Given the description of an element on the screen output the (x, y) to click on. 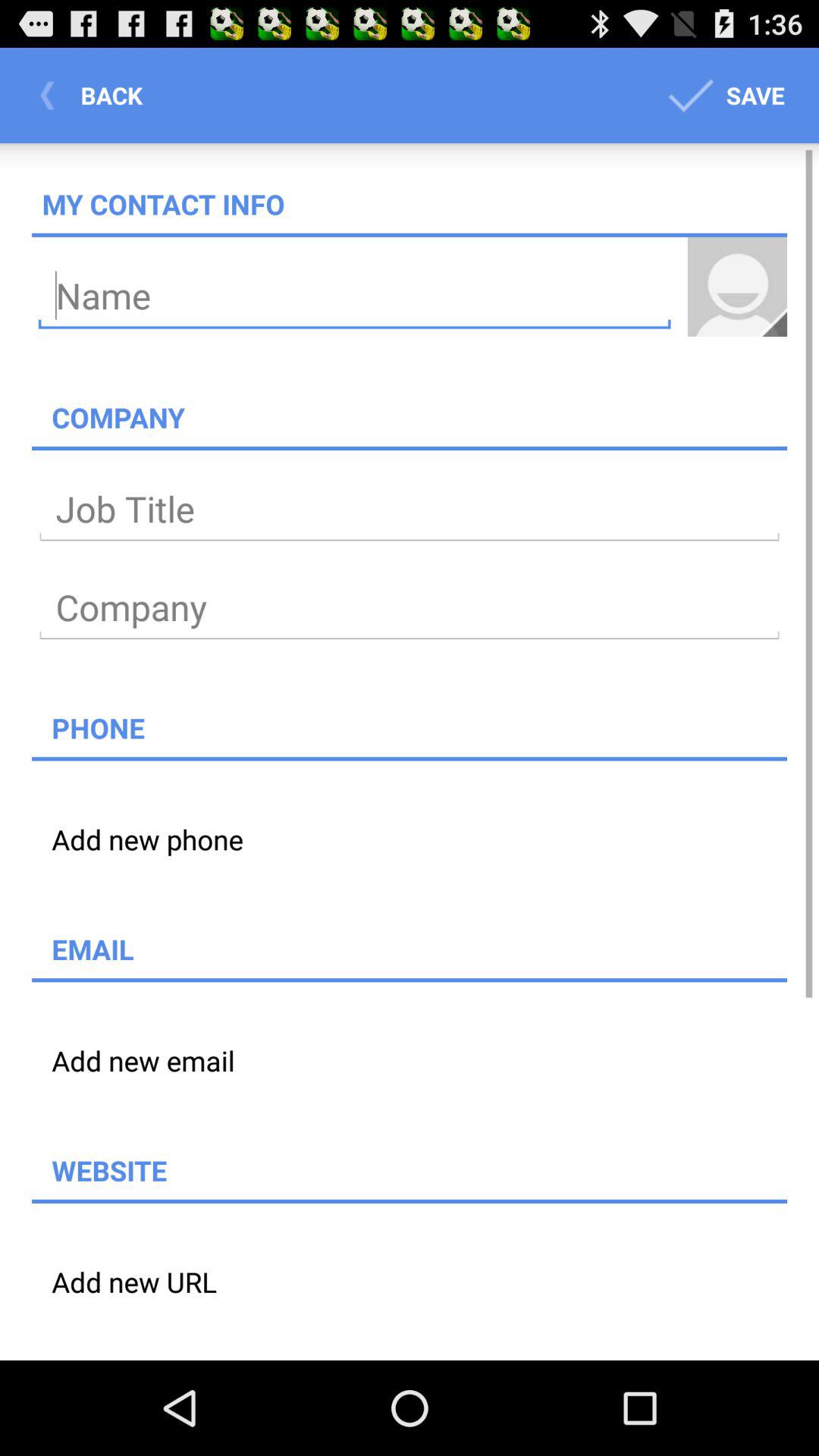
tap app above my contact info item (95, 95)
